Given the description of an element on the screen output the (x, y) to click on. 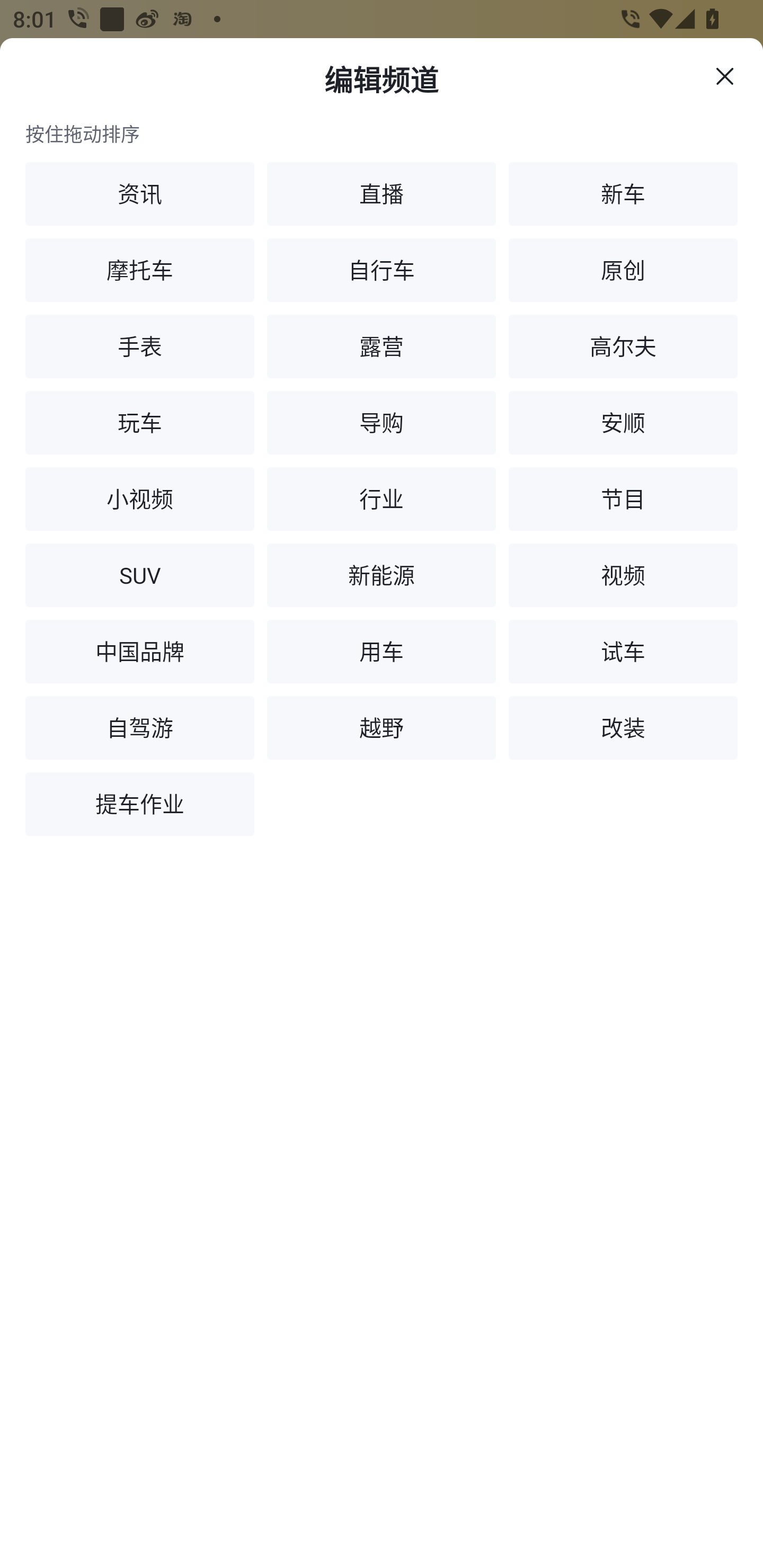
资讯 (139, 193)
直播 (381, 193)
新车 (622, 193)
摩托车 (139, 270)
自行车 (381, 270)
原创 (622, 270)
手表 (139, 346)
露营 (381, 346)
高尔夫 (622, 346)
玩车 (139, 422)
导购 (381, 422)
安顺 (622, 422)
小视频 (139, 498)
行业 (381, 498)
节目 (622, 498)
SUV (139, 575)
新能源 (381, 575)
视频 (622, 575)
中国品牌 (139, 651)
用车 (381, 651)
试车 (622, 651)
自驾游 (139, 727)
越野 (381, 727)
改装 (622, 727)
提车作业 (139, 804)
